Given the description of an element on the screen output the (x, y) to click on. 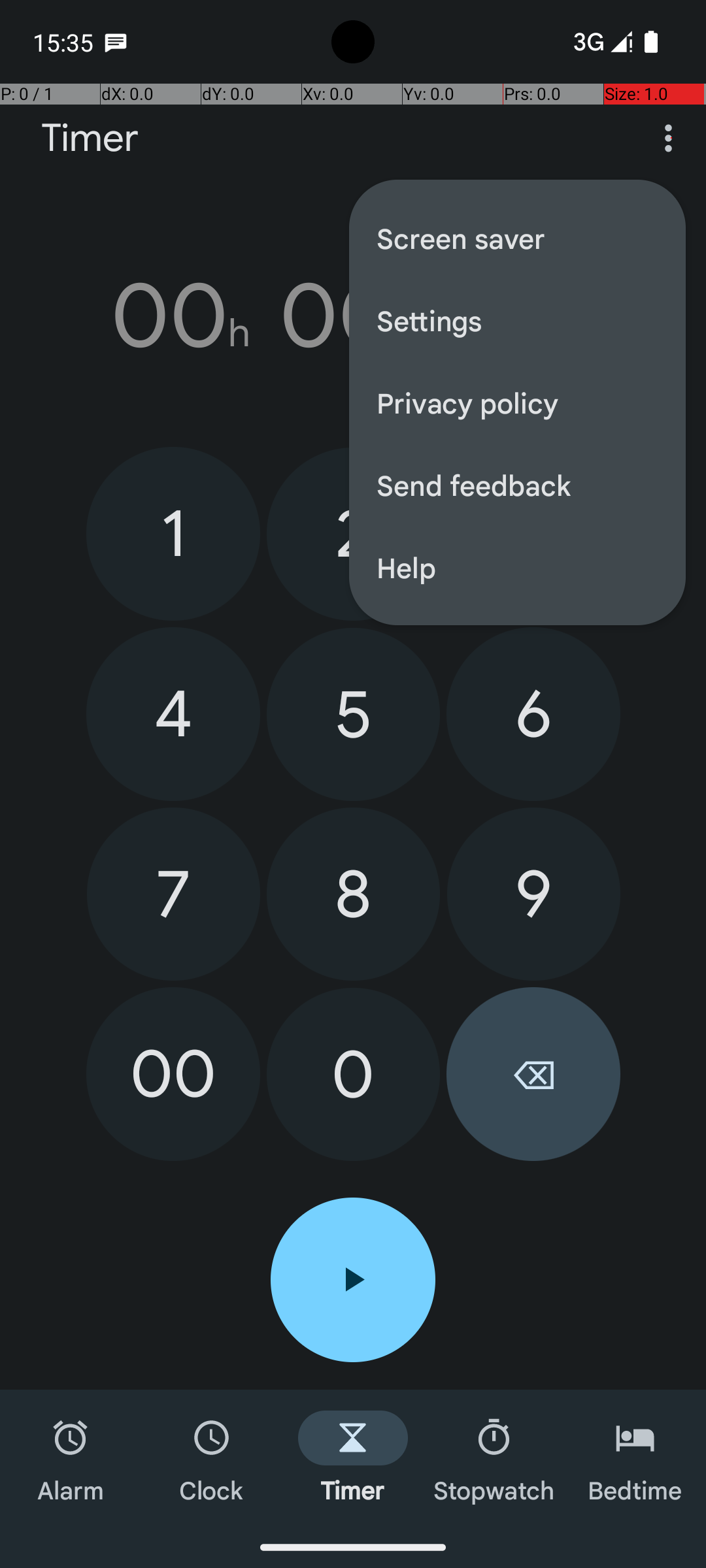
Screen saver Element type: android.widget.TextView (517, 237)
